Given the description of an element on the screen output the (x, y) to click on. 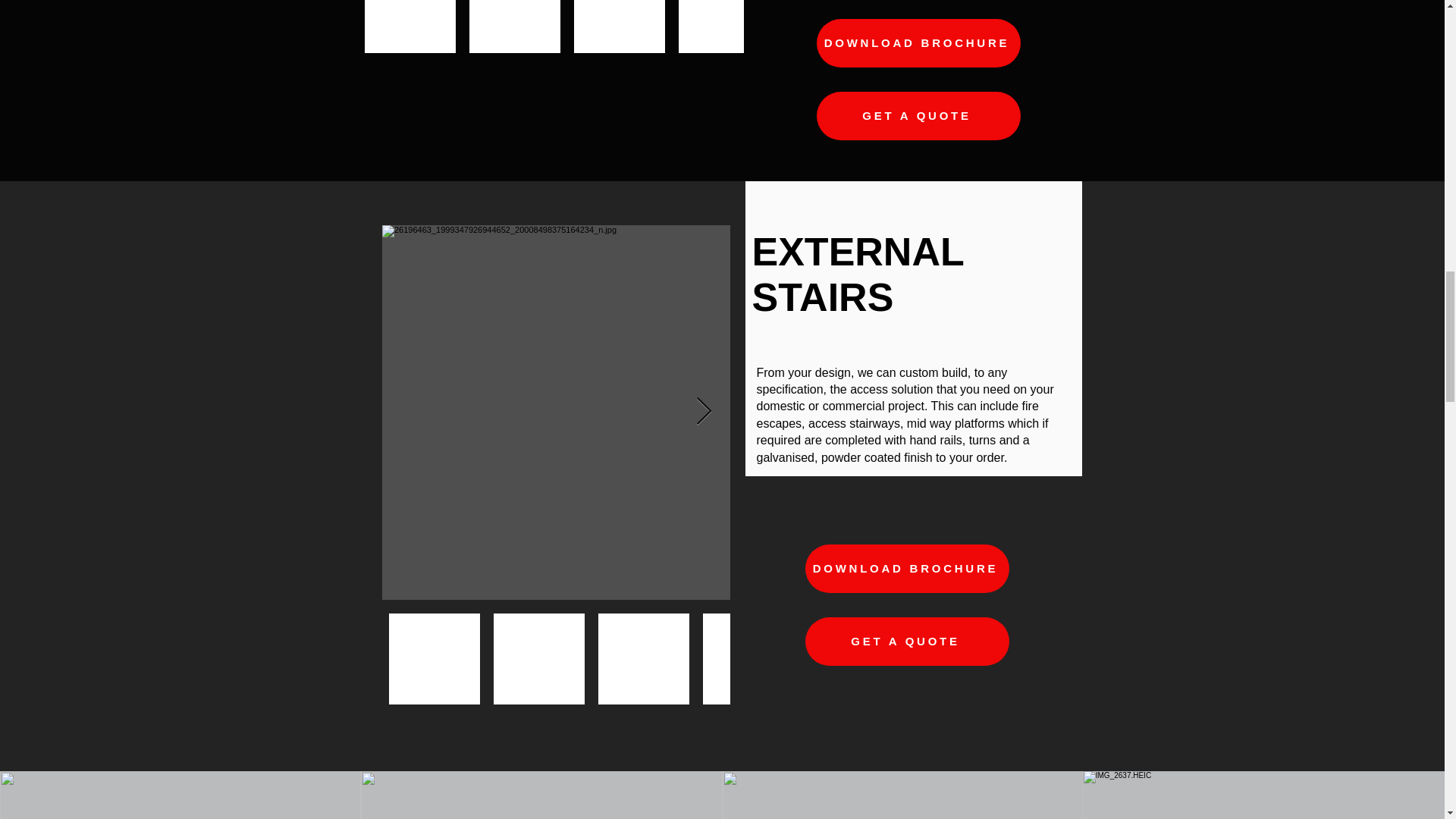
GET A QUOTE (917, 115)
GET A QUOTE (907, 641)
DOWNLOAD BROCHURE (907, 568)
DOWNLOAD BROCHURE (917, 42)
